Given the description of an element on the screen output the (x, y) to click on. 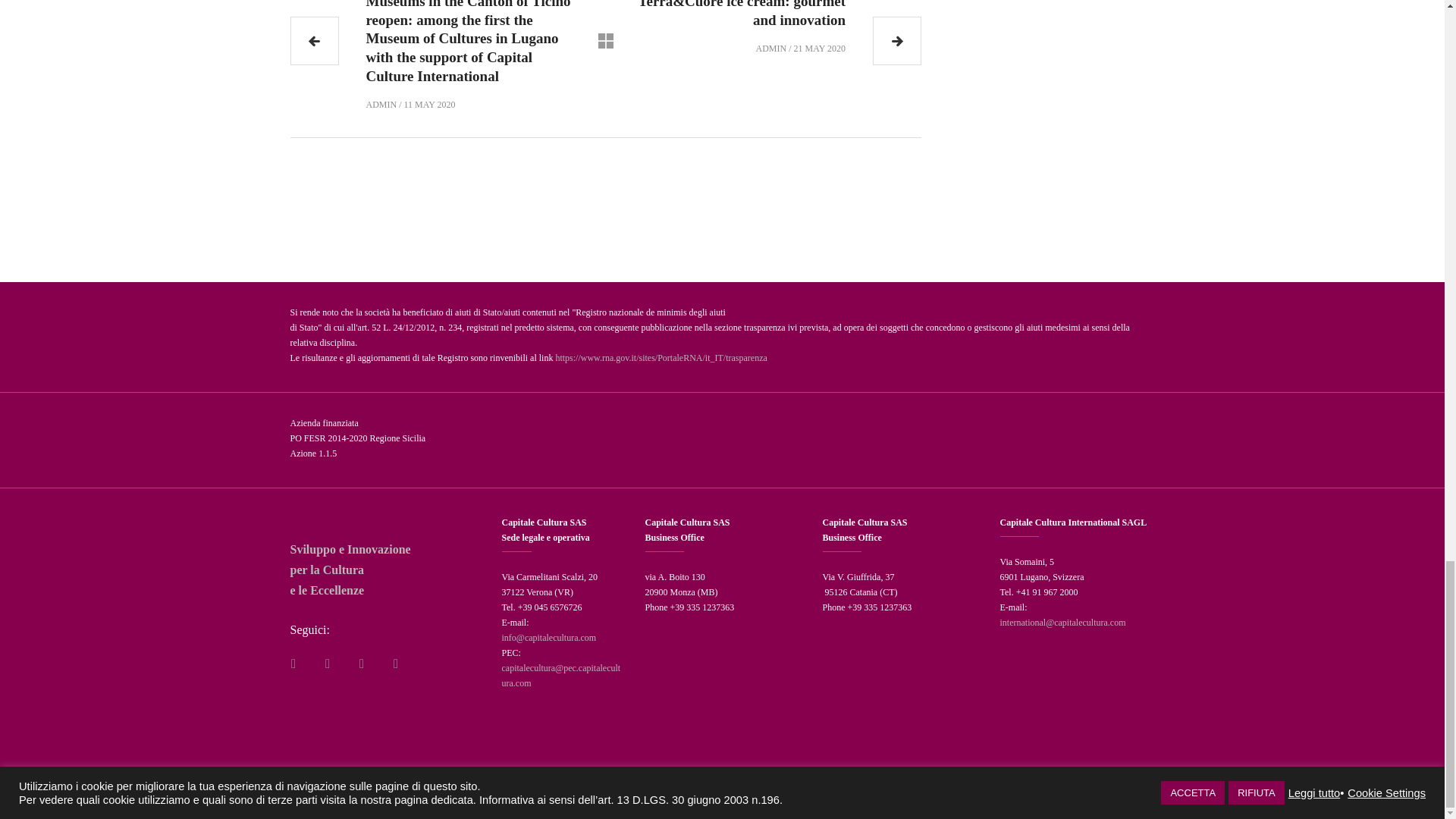
ADMIN (380, 104)
ADMIN (771, 48)
